Given the description of an element on the screen output the (x, y) to click on. 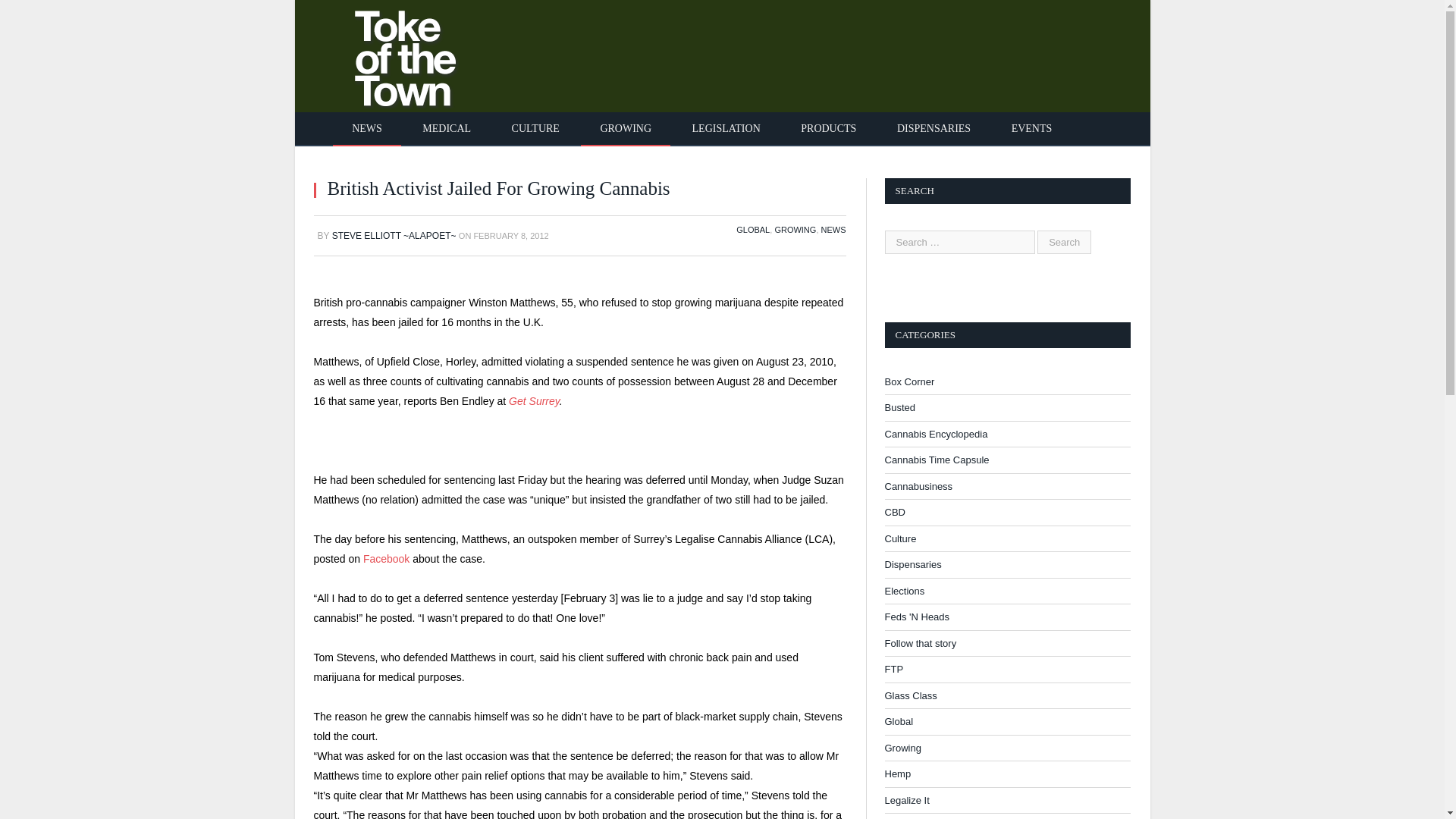
CULTURE (535, 129)
Facebook (385, 558)
EVENTS (1031, 129)
MEDICAL (446, 129)
DISPENSARIES (933, 129)
Search (1063, 241)
NEWS (367, 129)
Toke of the Town (389, 53)
PRODUCTS (828, 129)
GLOBAL (753, 229)
GROWING (624, 129)
GROWING (794, 229)
Search (1063, 241)
NEWS (833, 229)
LEGISLATION (725, 129)
